Given the description of an element on the screen output the (x, y) to click on. 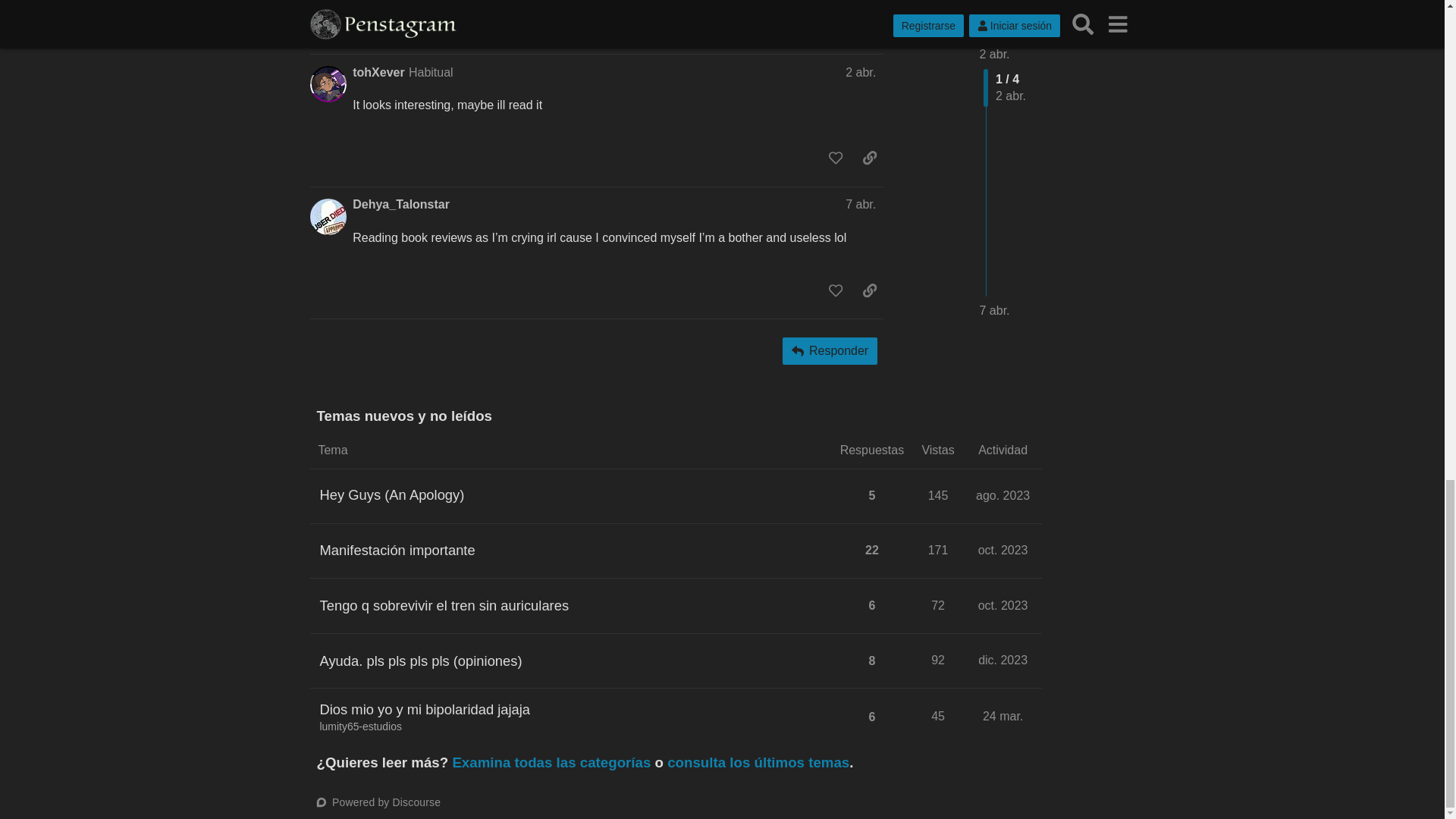
tohXever (378, 72)
